Given the description of an element on the screen output the (x, y) to click on. 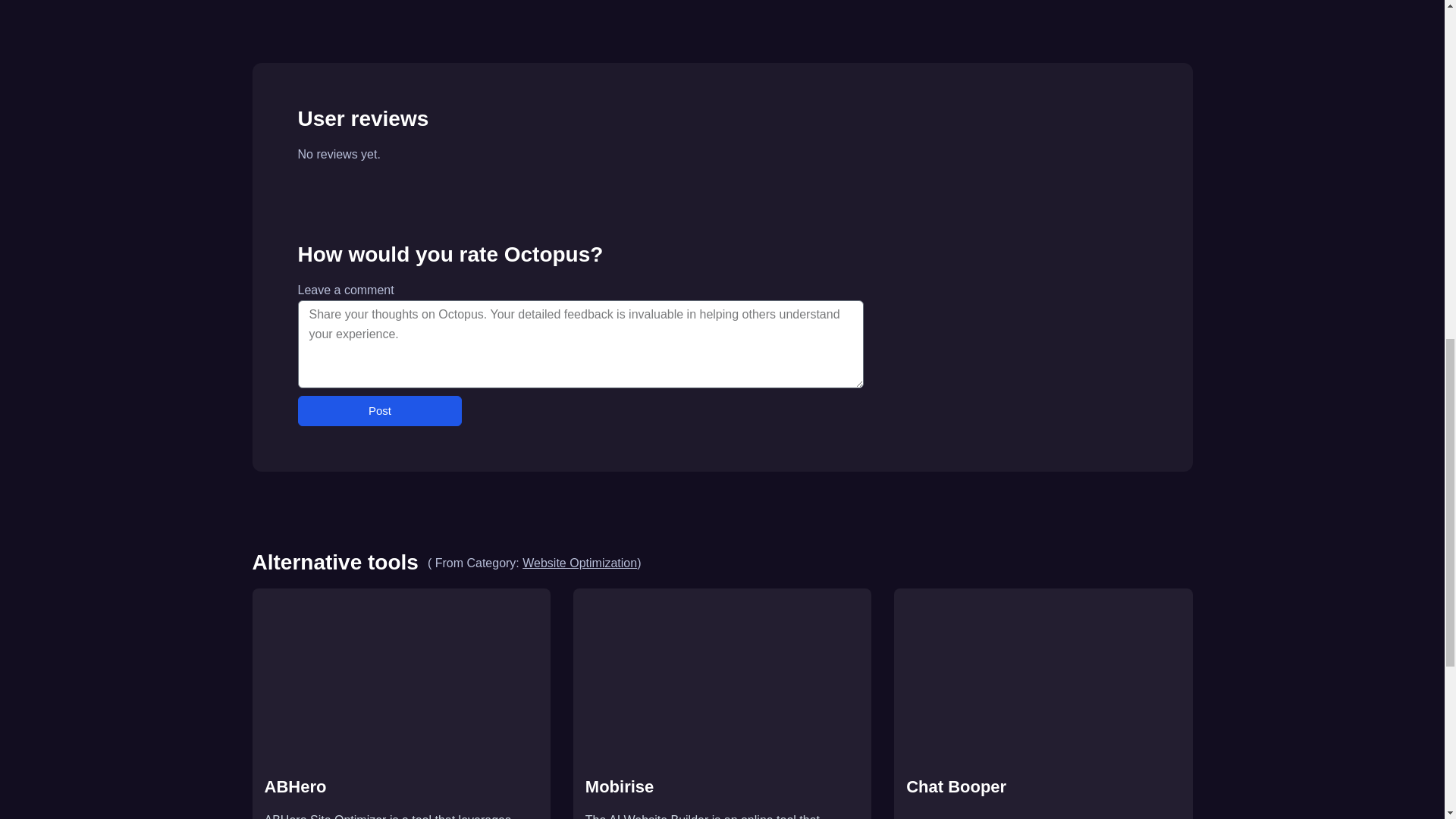
Post (379, 410)
Chat Booper (1042, 786)
Website Optimization (579, 562)
